Given the description of an element on the screen output the (x, y) to click on. 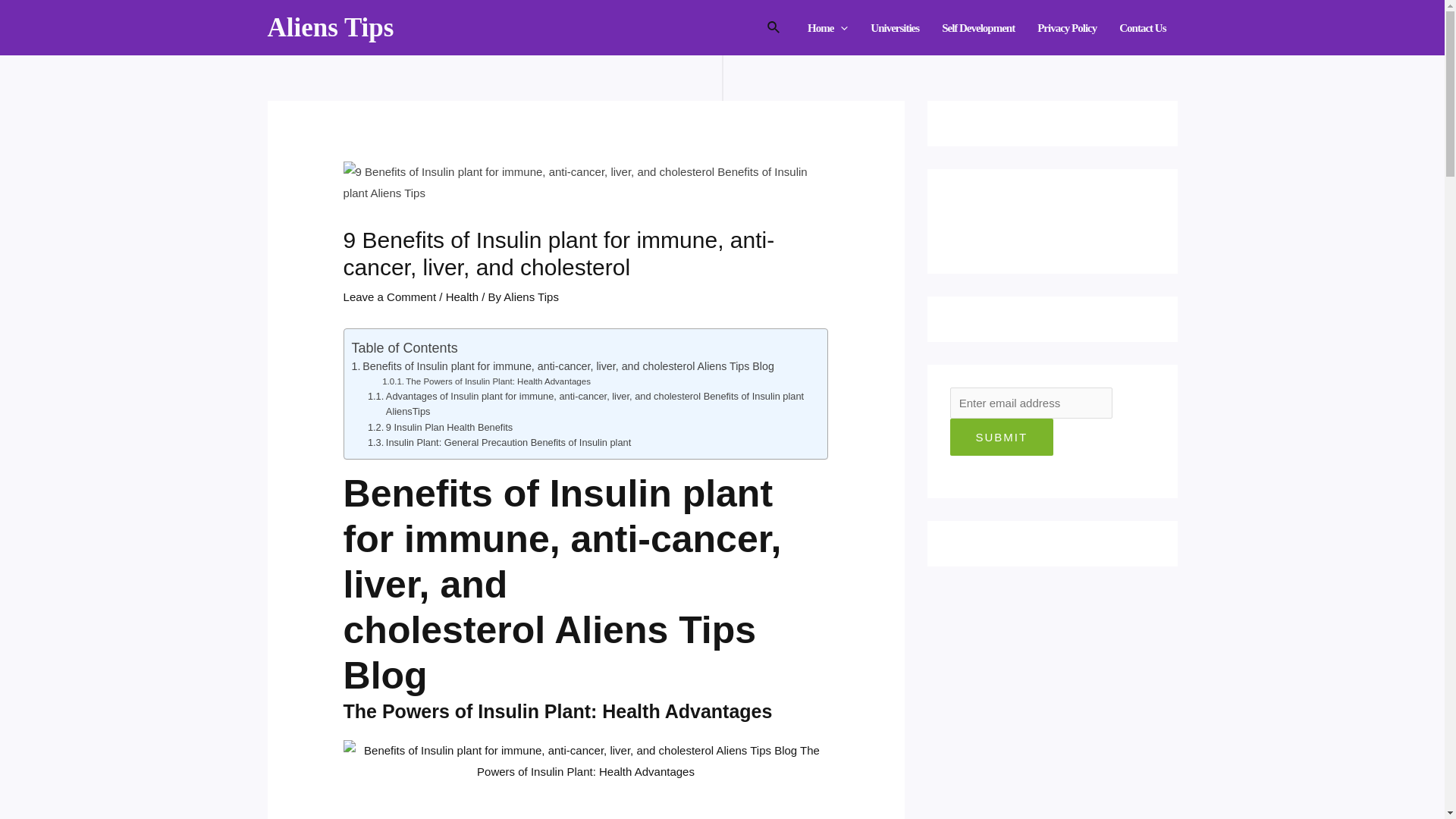
View all posts by Aliens Tips (531, 296)
Privacy Policy (1067, 27)
Aliens Tips (329, 27)
Insulin Plant: General Precaution Benefits of Insulin plant (499, 442)
Self Development (978, 27)
Home (827, 27)
Universities (894, 27)
9 Insulin Plan Health Benefits (440, 427)
The Powers of Insulin Plant: Health Advantages (486, 381)
Submit (1000, 436)
Contact Us (1142, 27)
